Given the description of an element on the screen output the (x, y) to click on. 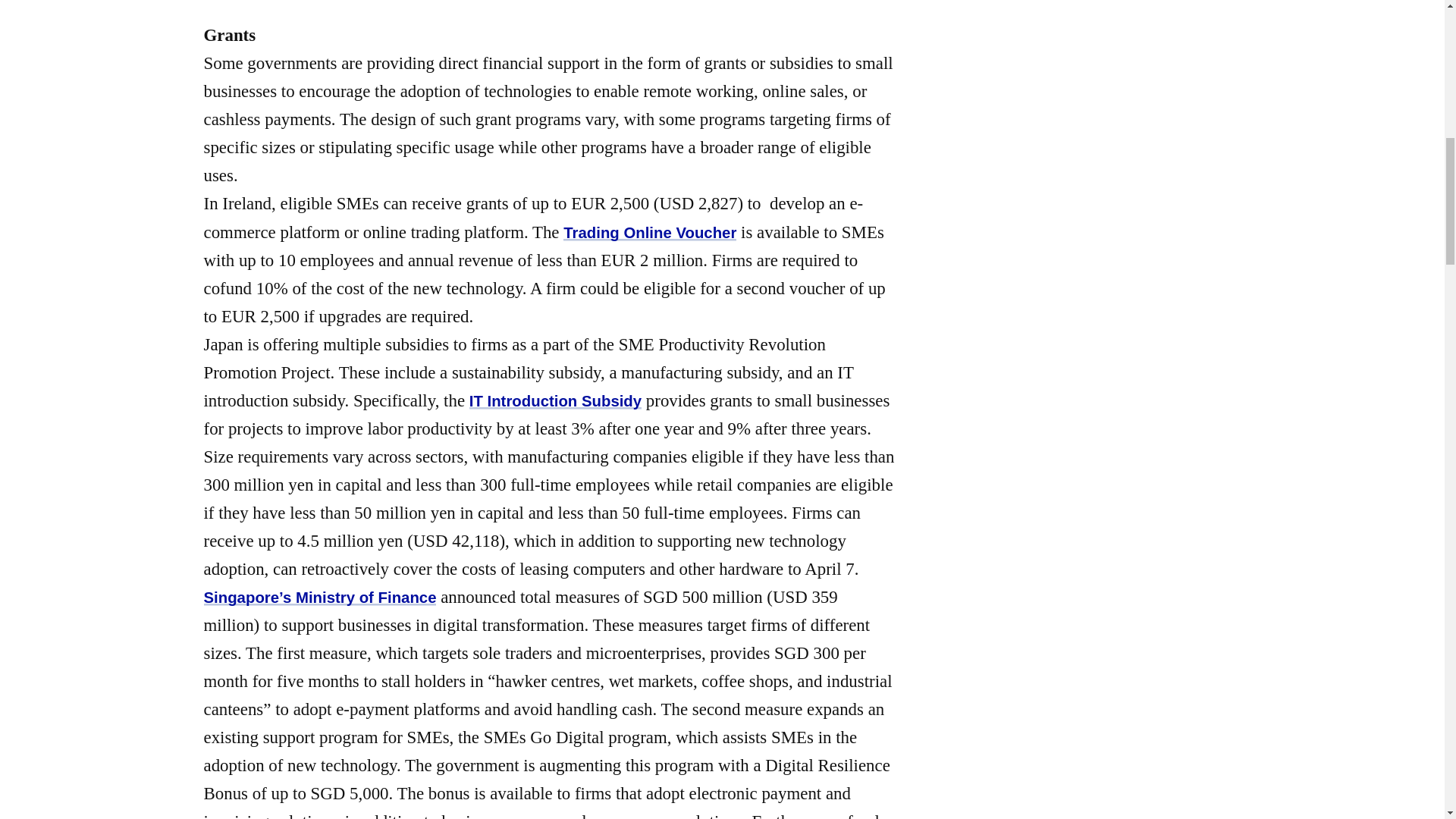
Trading Online Voucher (649, 232)
IT Introduction Subsidy (555, 401)
